Given the description of an element on the screen output the (x, y) to click on. 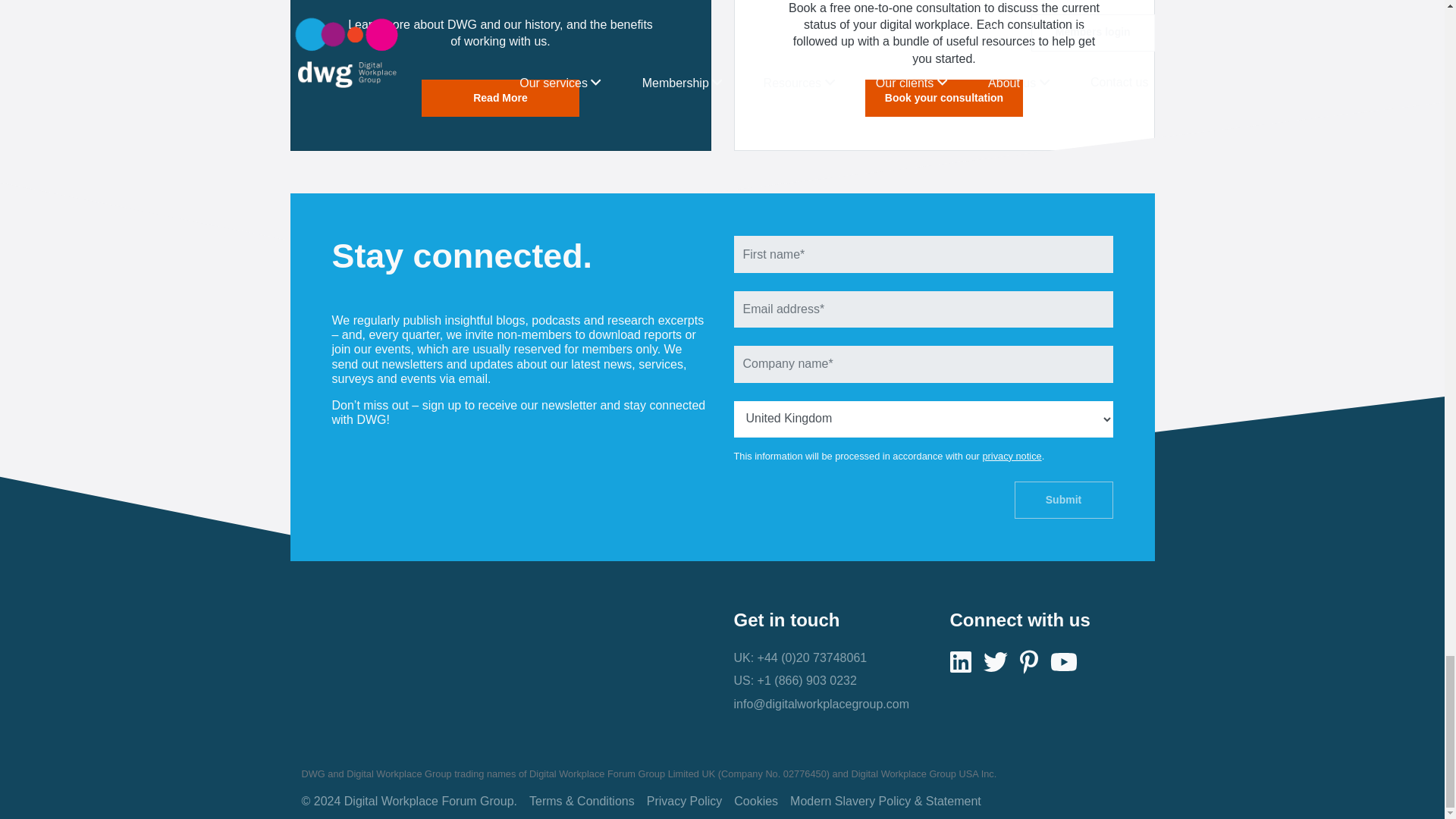
Submit (1063, 499)
